Given the description of an element on the screen output the (x, y) to click on. 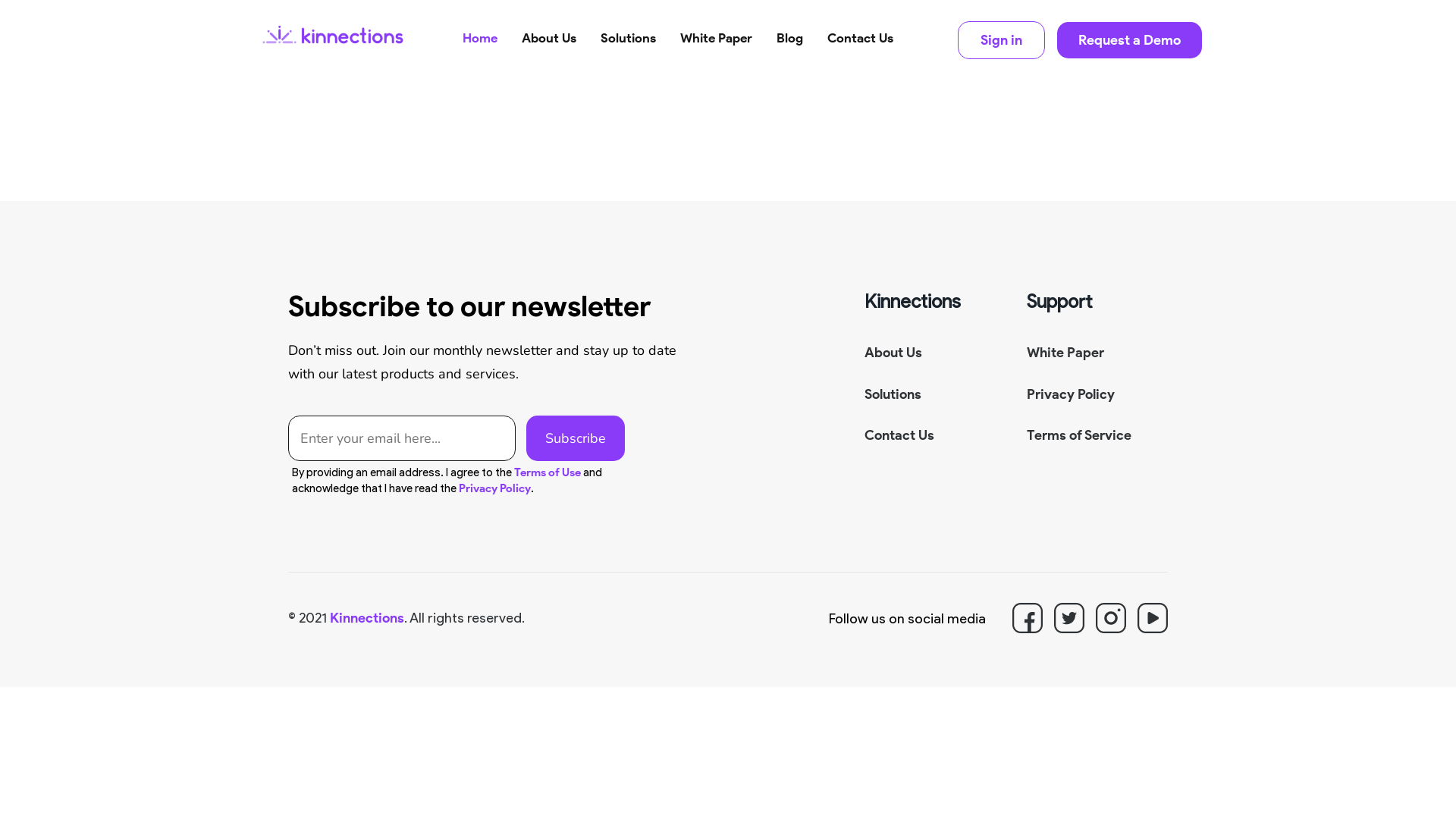
Privacy Policy Element type: text (1070, 393)
Terms of Use Element type: text (547, 472)
Request a Demo Element type: text (1129, 39)
Subscribe Element type: text (575, 438)
Privacy Policy Element type: text (494, 488)
Blog Element type: text (789, 50)
About Us Element type: text (548, 50)
Solutions Element type: text (892, 393)
Solutions Element type: text (627, 50)
Contact Us Element type: text (860, 50)
White Paper Element type: text (716, 50)
About Us Element type: text (893, 352)
White Paper Element type: text (1065, 352)
Terms of Service Element type: text (1078, 434)
Sign in Element type: text (1000, 40)
Contact Us Element type: text (899, 434)
Home Element type: text (479, 50)
